Given the description of an element on the screen output the (x, y) to click on. 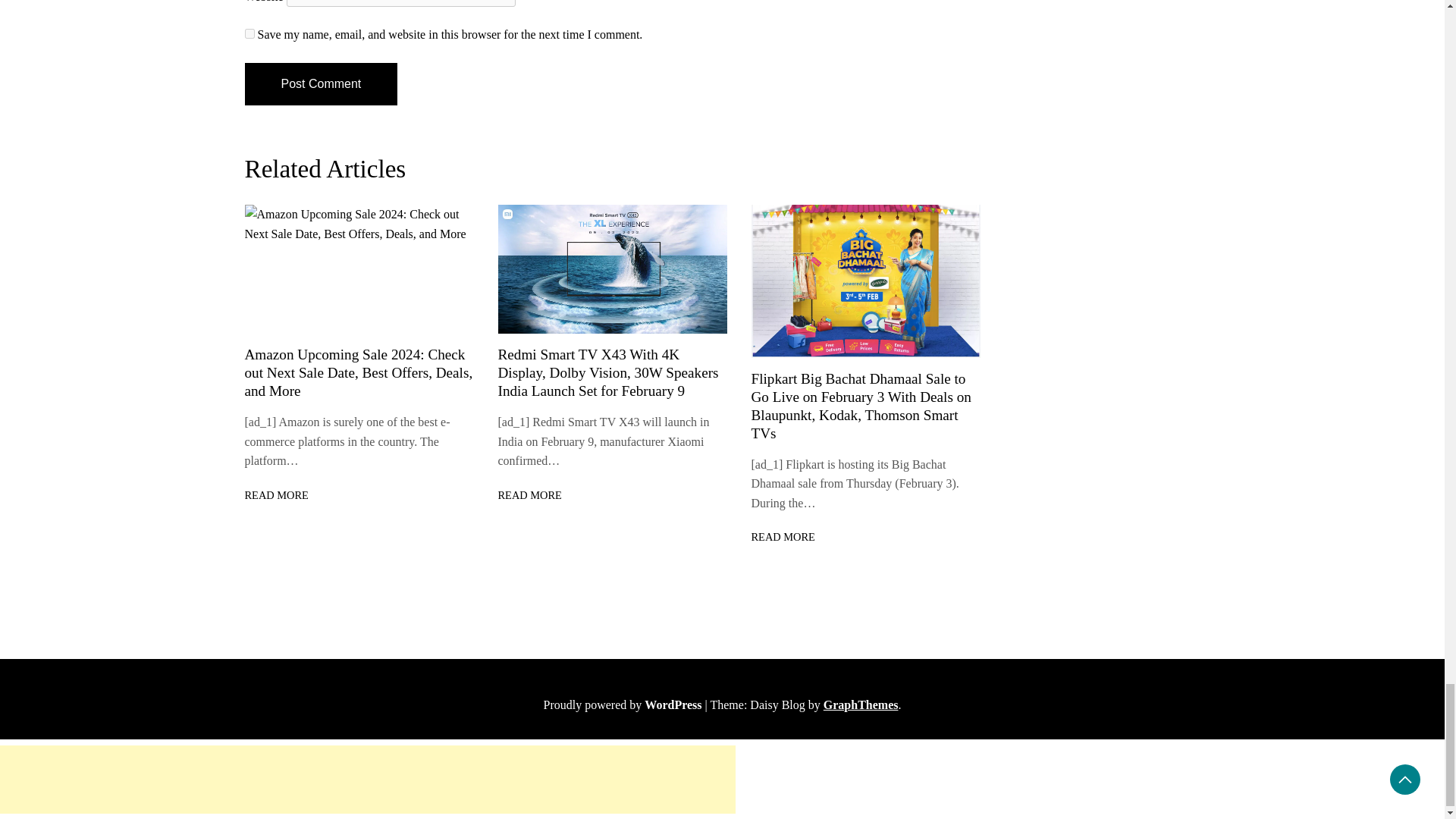
yes (248, 33)
READ MORE (782, 537)
Post Comment (320, 84)
Post Comment (320, 84)
READ MORE (528, 495)
READ MORE (275, 495)
